Given the description of an element on the screen output the (x, y) to click on. 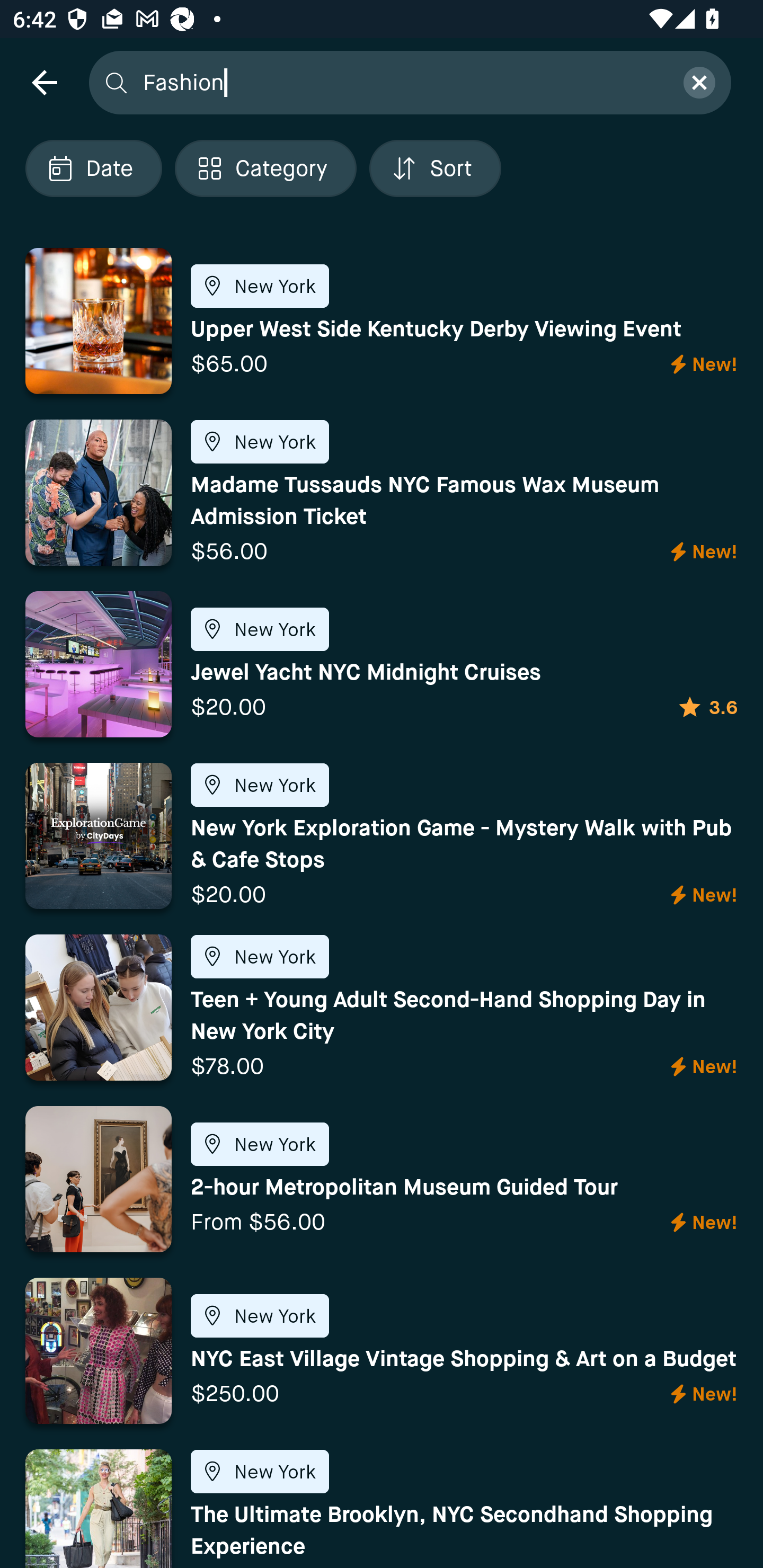
navigation icon (44, 81)
Fashion (402, 81)
Localized description Date (93, 168)
Localized description Category (265, 168)
Localized description Sort (435, 168)
